Given the description of an element on the screen output the (x, y) to click on. 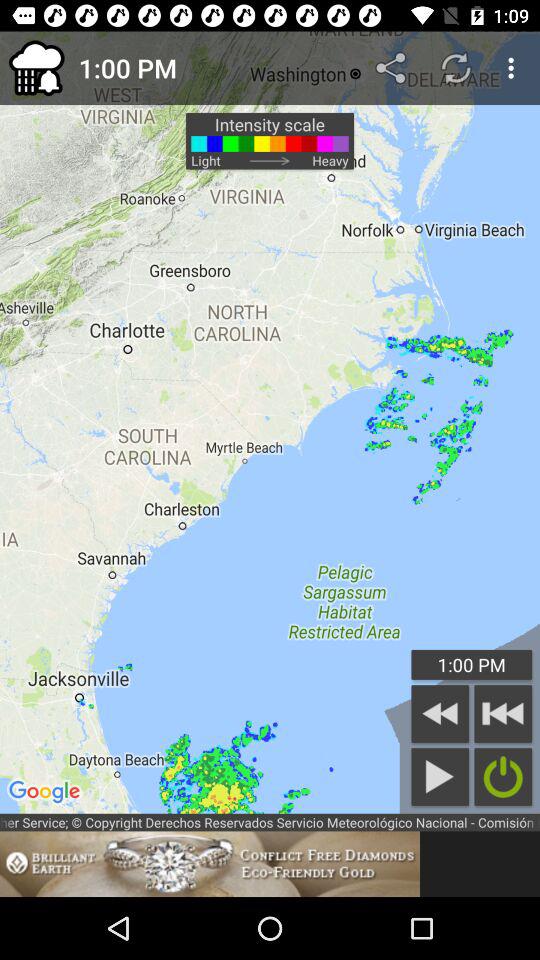
rewind rain forecast (440, 713)
